Given the description of an element on the screen output the (x, y) to click on. 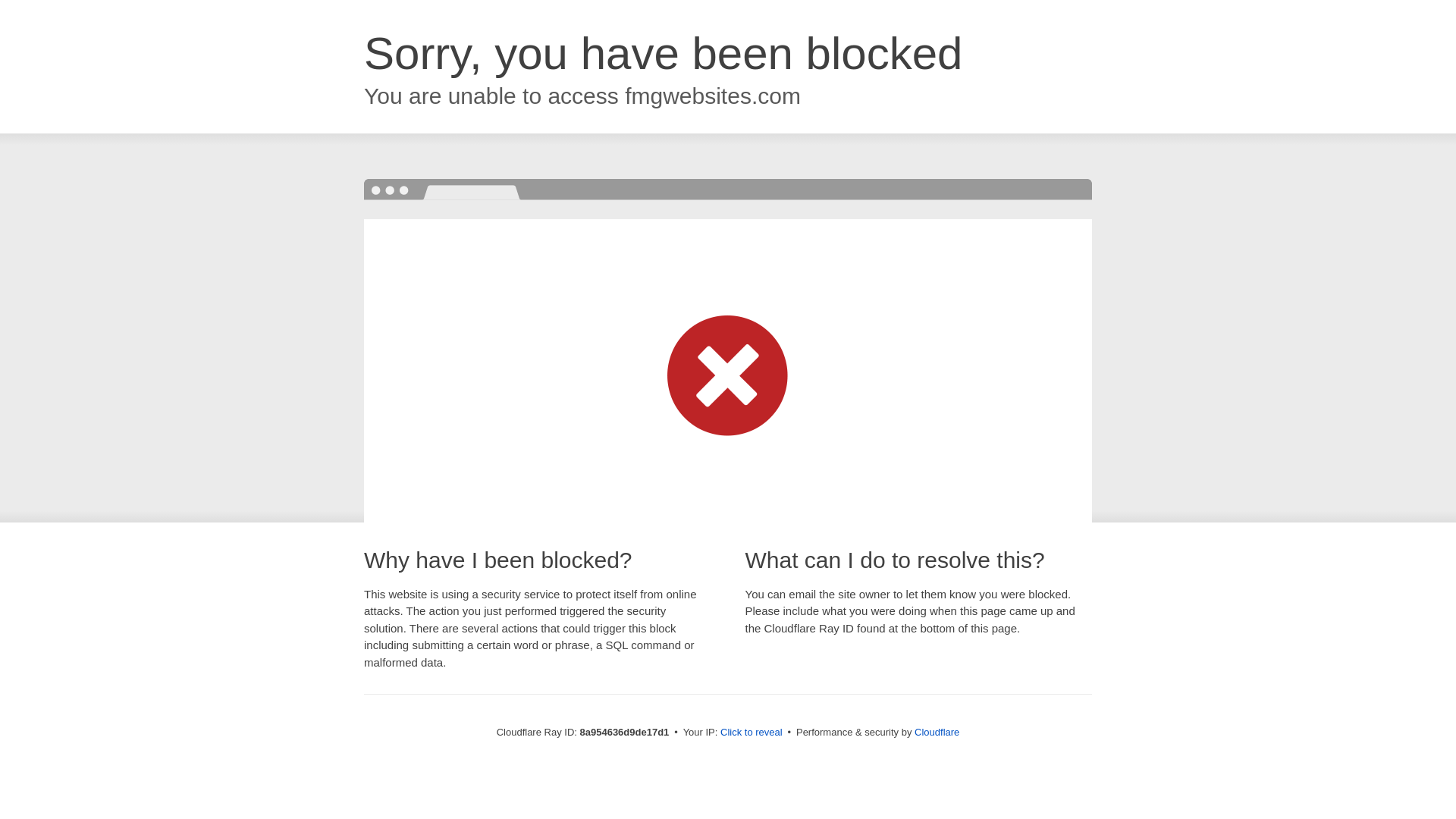
Click to reveal (751, 732)
Cloudflare (936, 731)
